Given the description of an element on the screen output the (x, y) to click on. 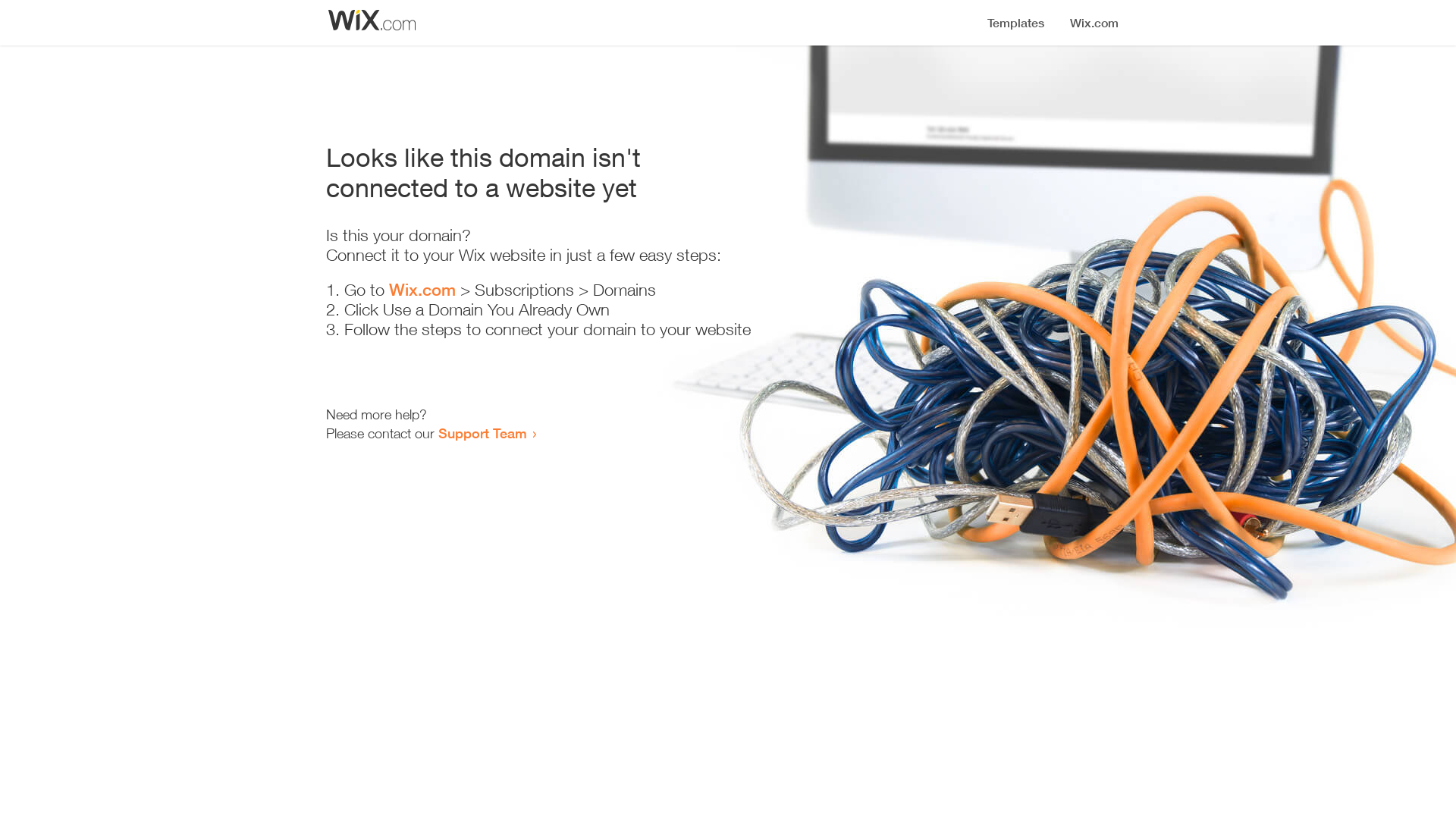
Support Team Element type: text (482, 432)
Wix.com Element type: text (422, 289)
